Given the description of an element on the screen output the (x, y) to click on. 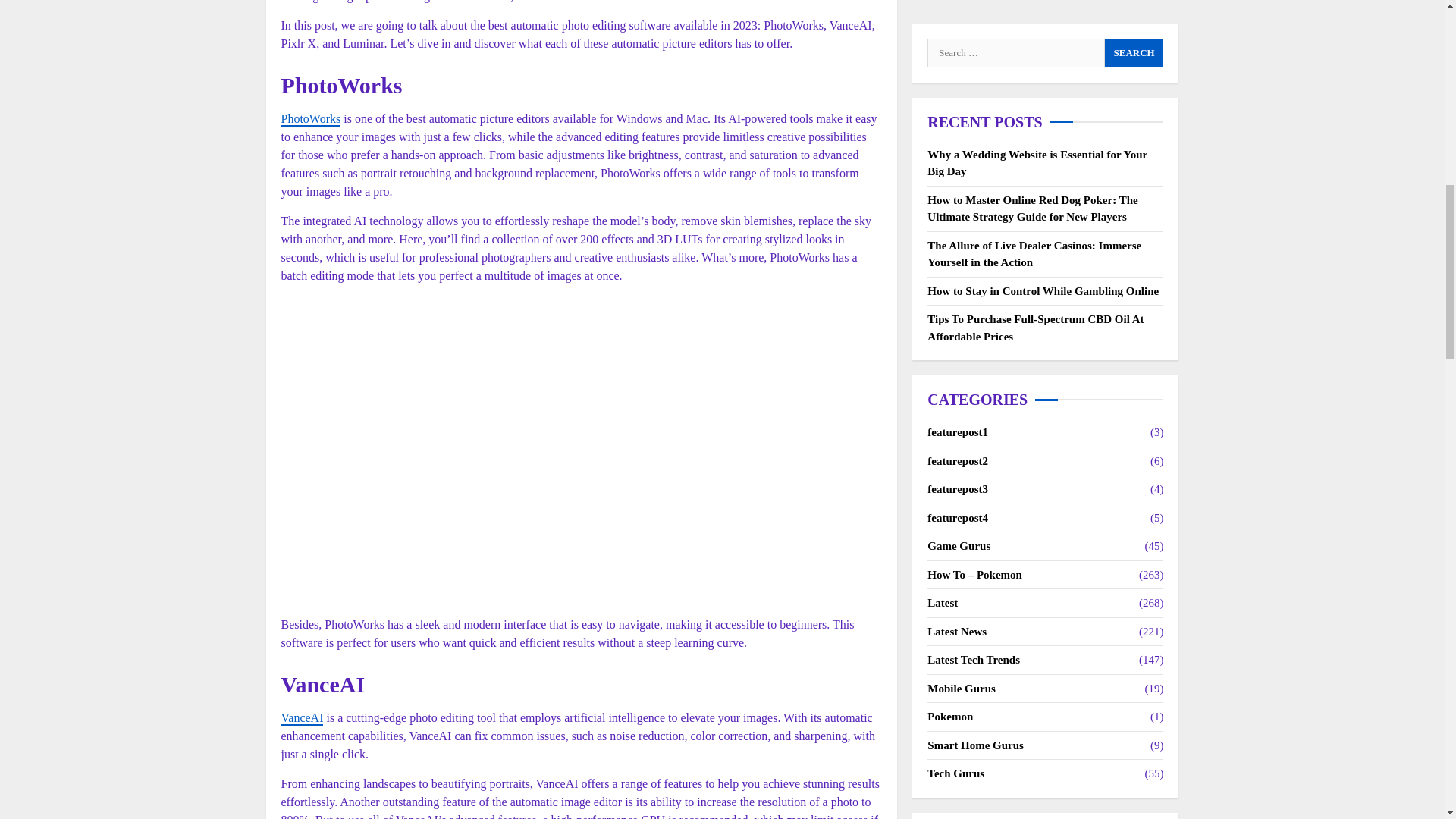
VanceAI (302, 718)
PhotoWorks (310, 119)
